Given the description of an element on the screen output the (x, y) to click on. 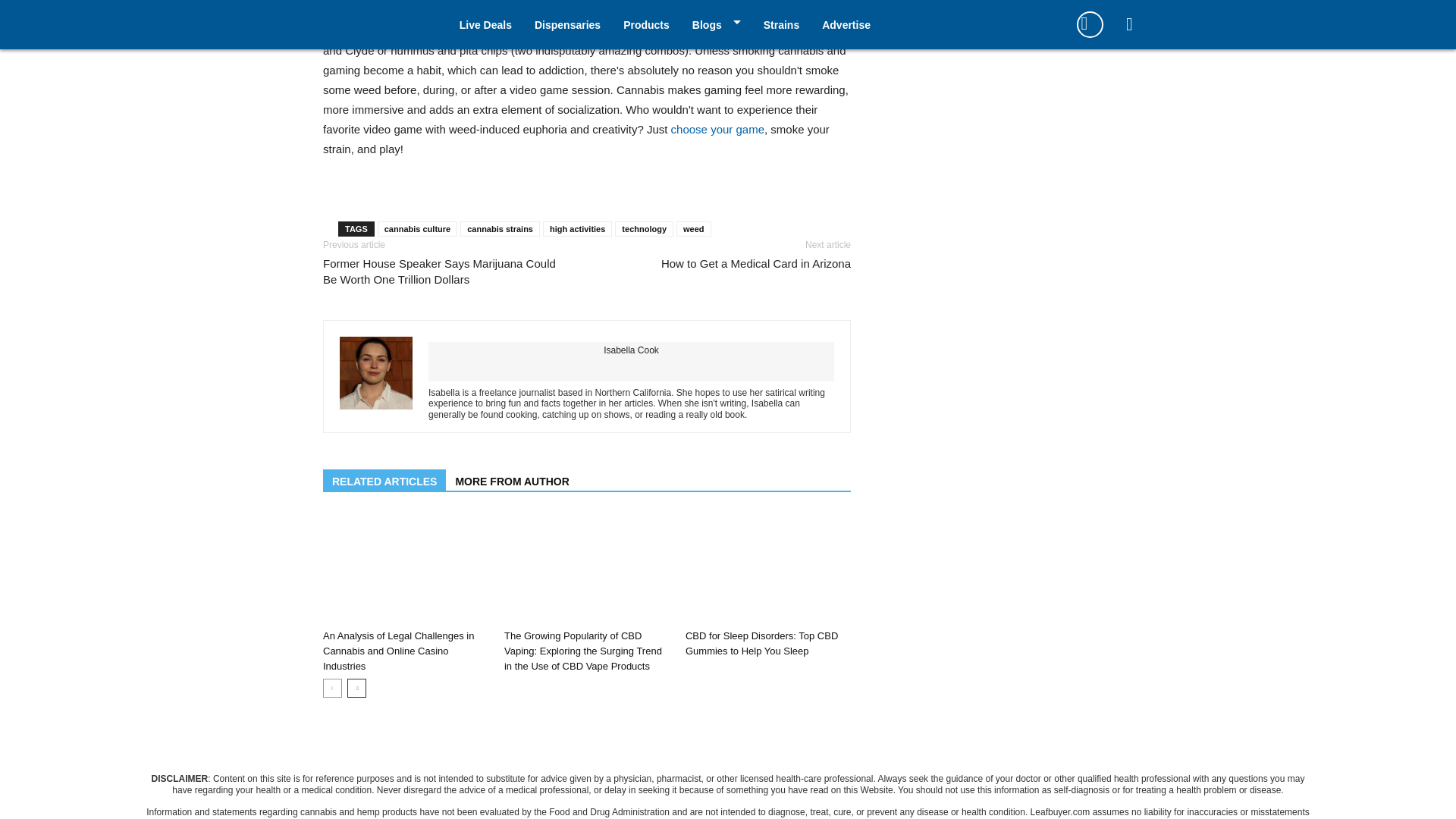
CBD for Sleep Disorders: Top CBD Gummies to Help You Sleep (761, 642)
CBD for Sleep Disorders: Top CBD Gummies to Help You Sleep (767, 567)
